Given the description of an element on the screen output the (x, y) to click on. 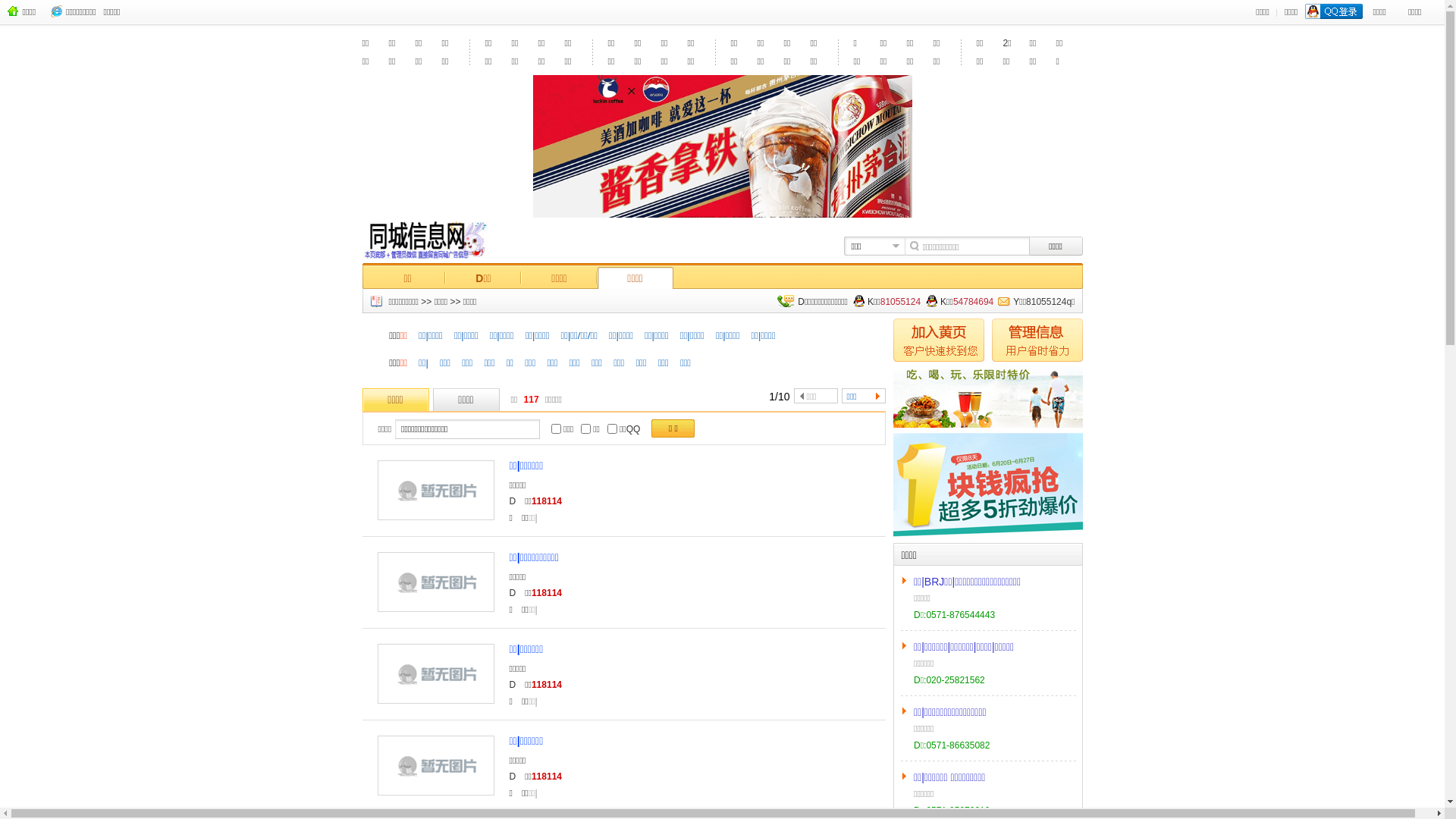
on Element type: text (585, 456)
54784694 Element type: text (973, 323)
on Element type: text (556, 456)
81055124 Element type: text (900, 323)
on Element type: text (612, 456)
